Given the description of an element on the screen output the (x, y) to click on. 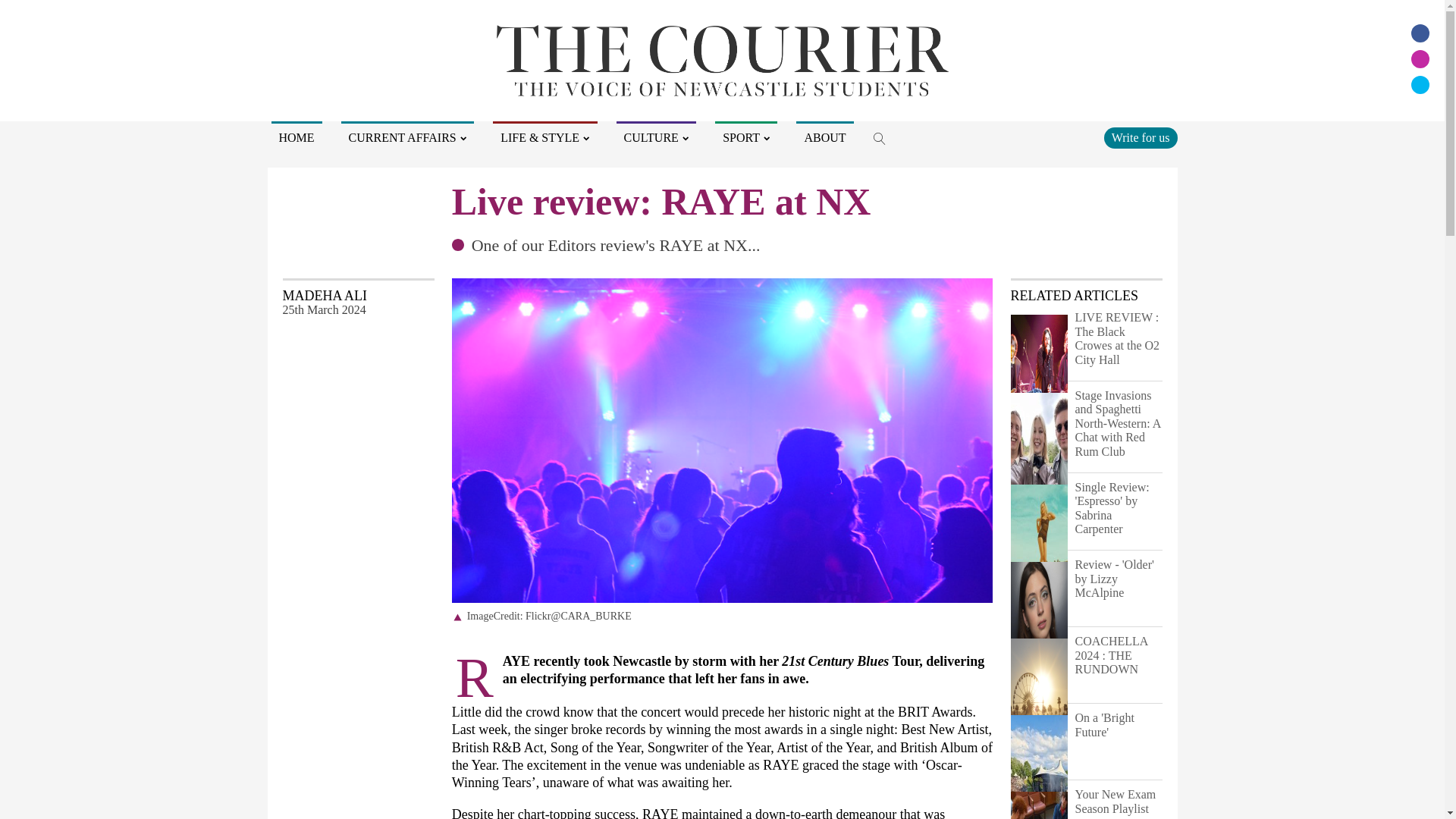
On a 'Bright Future' (1118, 739)
On a 'Bright Future' (1038, 818)
Your New Exam Season Playlist (1118, 801)
HOME (295, 137)
Write for us (1140, 137)
Review - 'Older' by Lizzy McAlpine (1038, 671)
SPORT (745, 137)
CURRENT AFFAIRS (407, 137)
LIVE REVIEW : The Black Crowes at the O2 City Hall (1118, 340)
COACHELLA 2024 : THE RUNDOWN (1118, 662)
CULTURE (656, 137)
Single Review: 'Espresso' by Sabrina Carpenter (1038, 594)
LIVE REVIEW : The Black Crowes at the O2 City Hall (1038, 423)
COACHELLA 2024 : THE RUNDOWN (1038, 748)
